Given the description of an element on the screen output the (x, y) to click on. 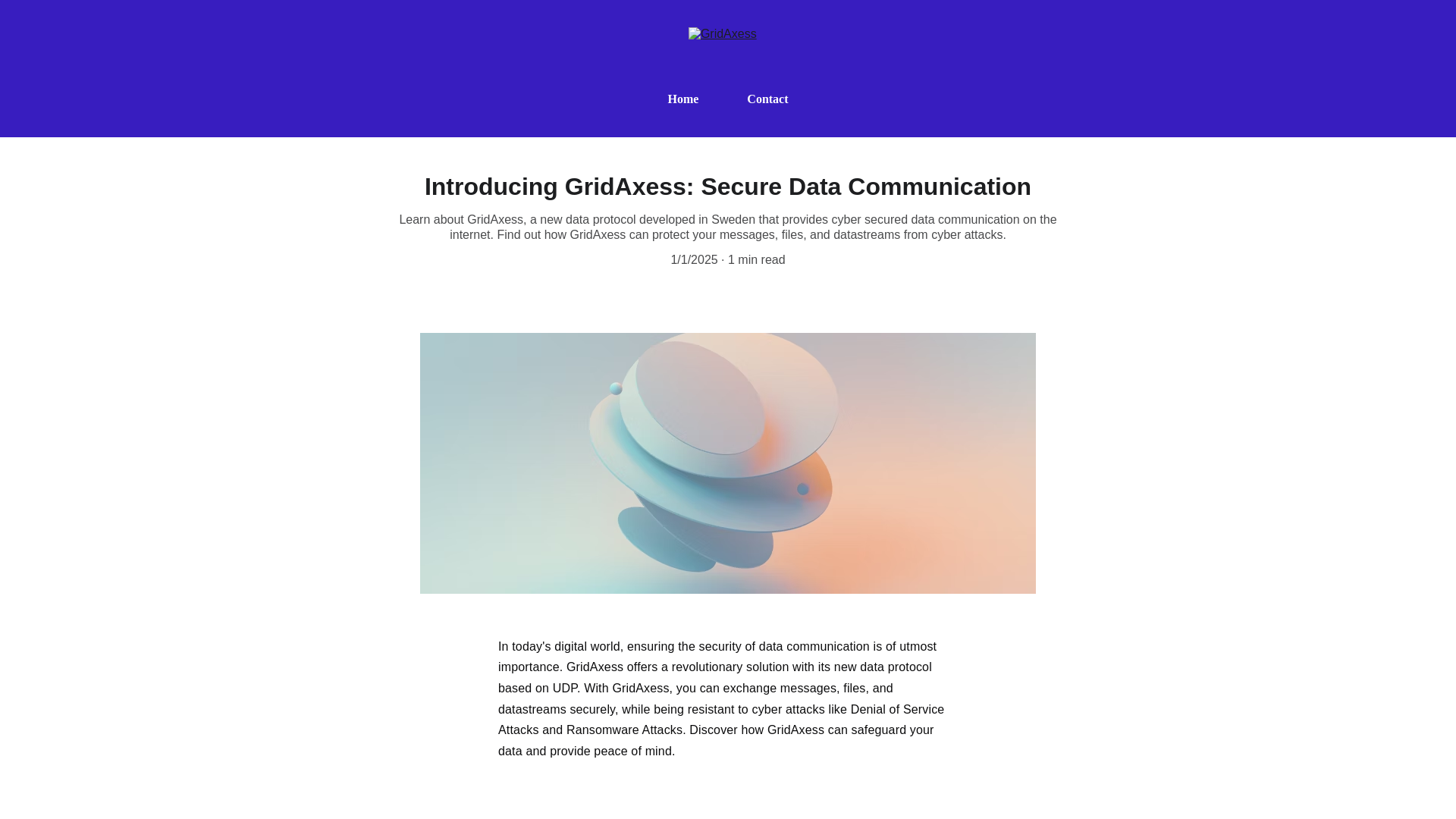
Contact (766, 98)
Home (682, 98)
